Given the description of an element on the screen output the (x, y) to click on. 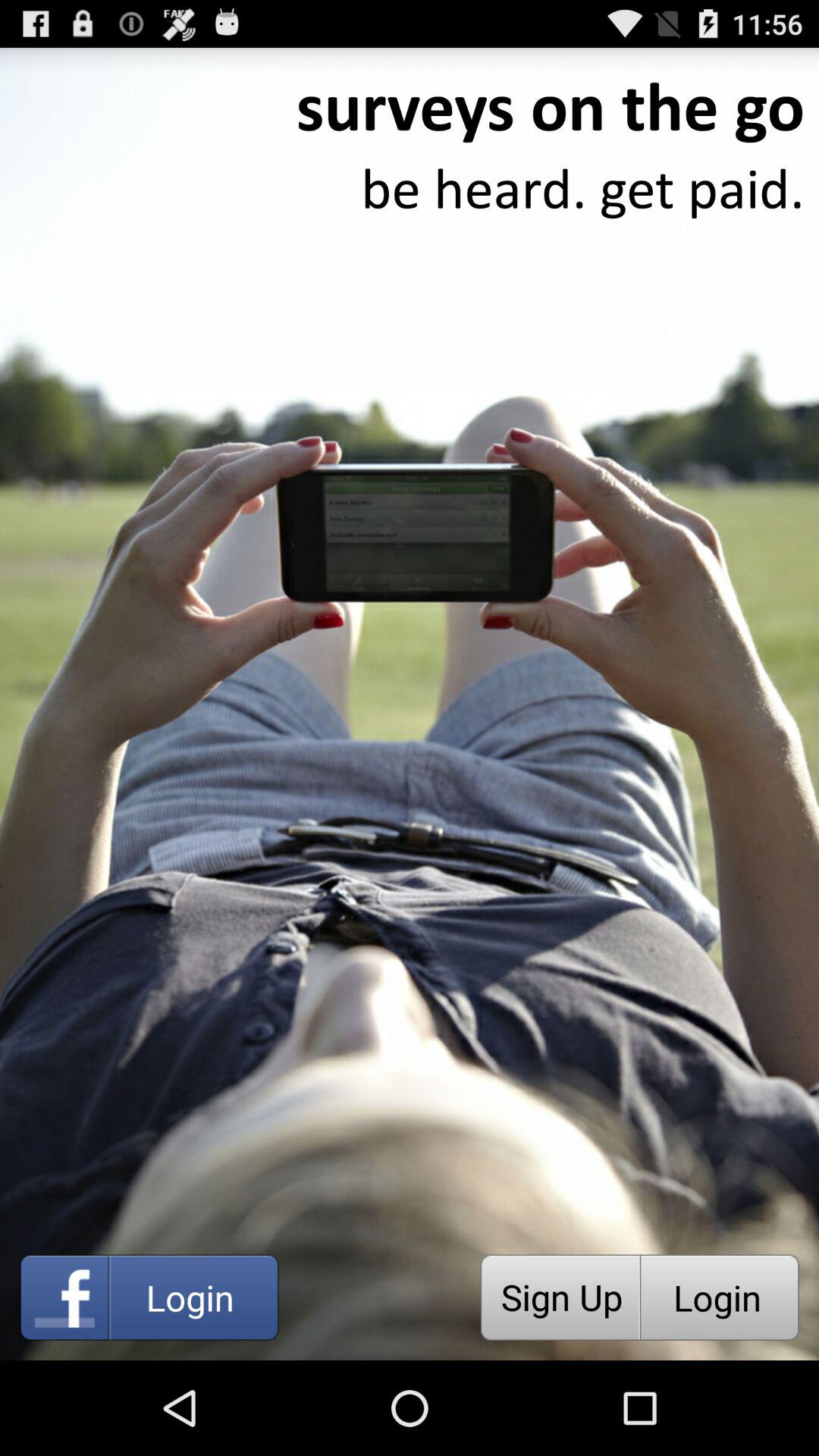
choose icon to the right of the login icon (559, 1297)
